Given the description of an element on the screen output the (x, y) to click on. 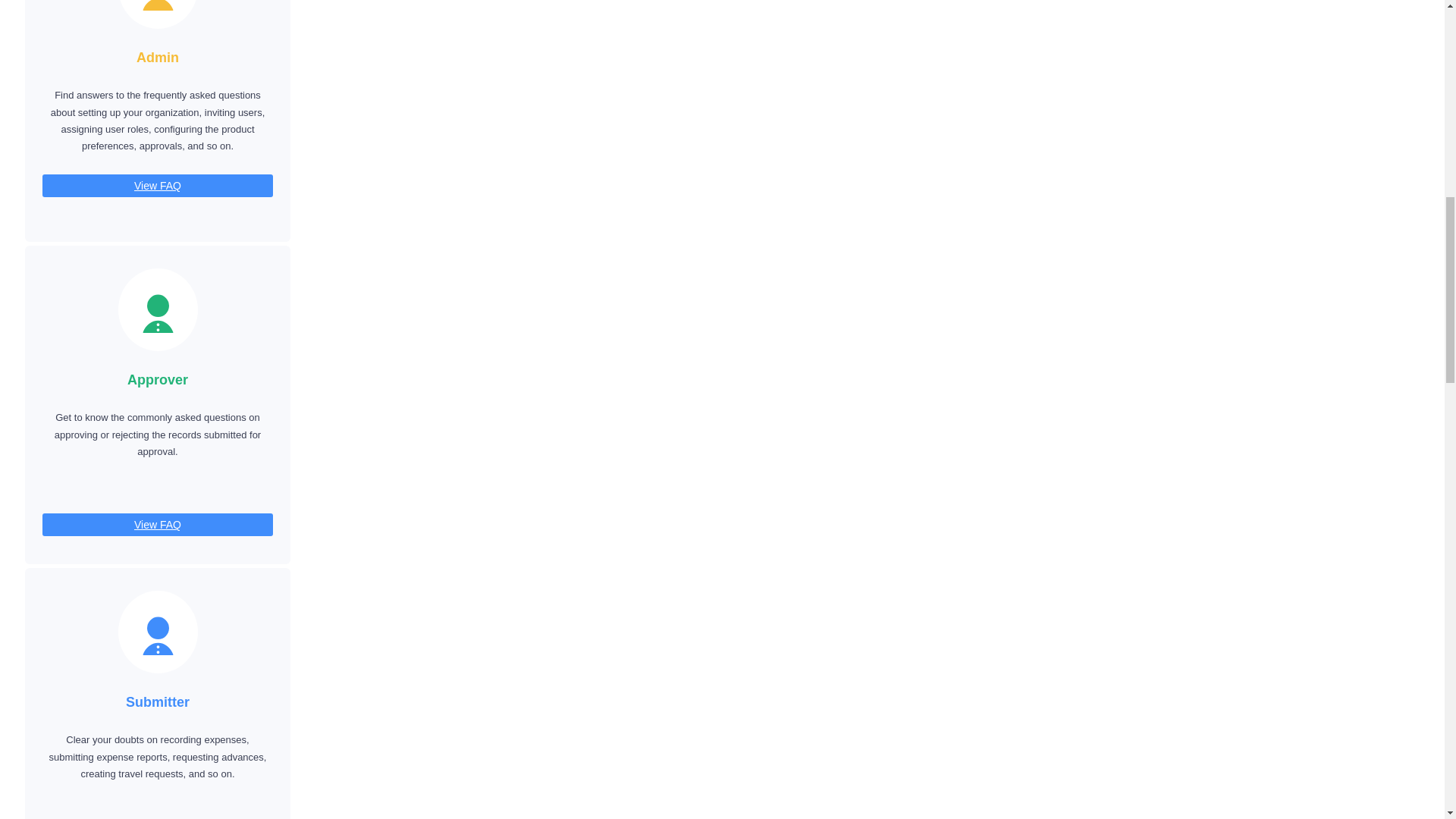
View FAQ (157, 524)
View FAQ (157, 185)
